Given the description of an element on the screen output the (x, y) to click on. 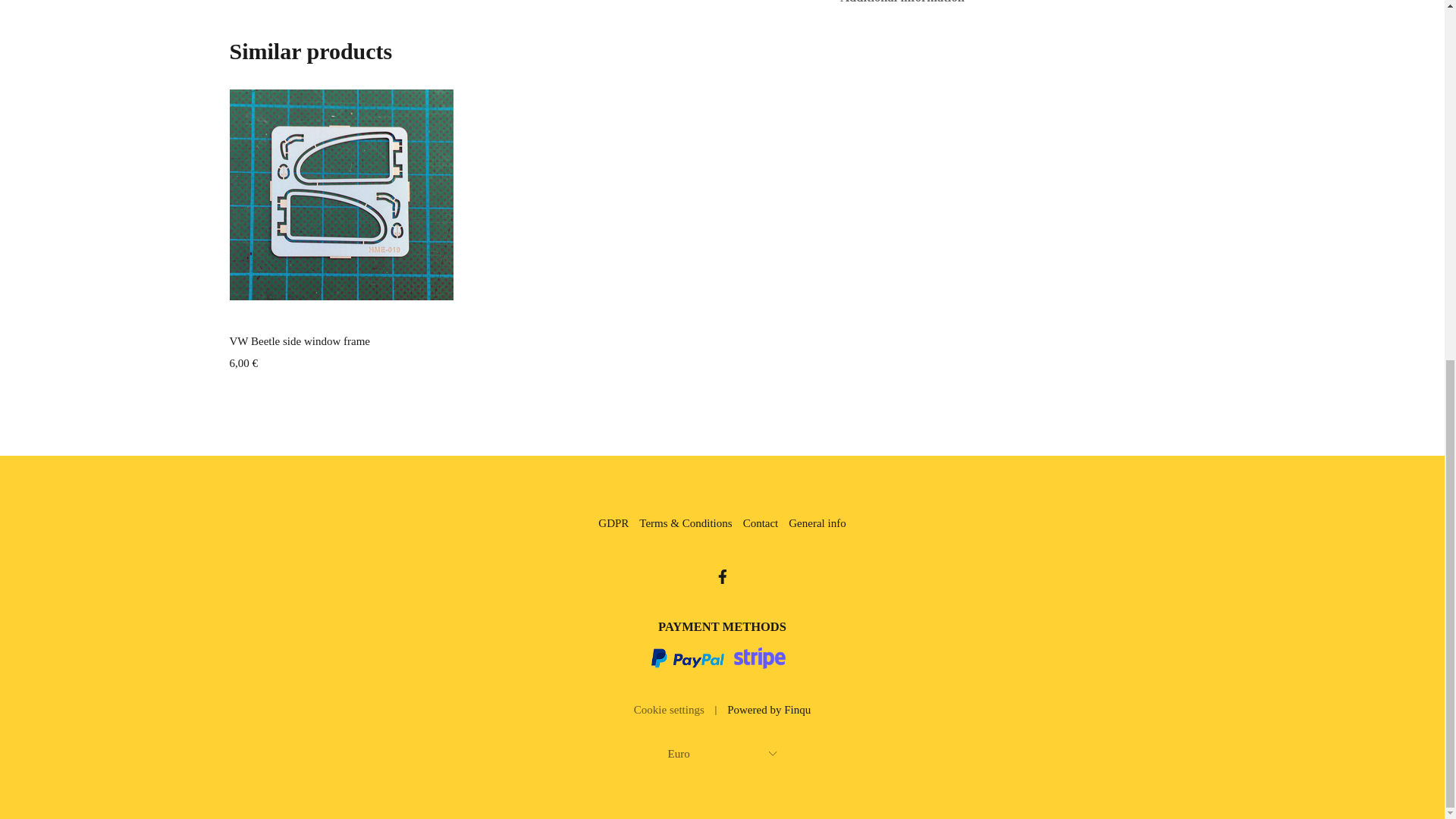
Cookie settings (668, 710)
Powered by Finqu (768, 710)
GDPR (613, 523)
Contact (760, 523)
Additional information (1018, 3)
General info (817, 523)
